Given the description of an element on the screen output the (x, y) to click on. 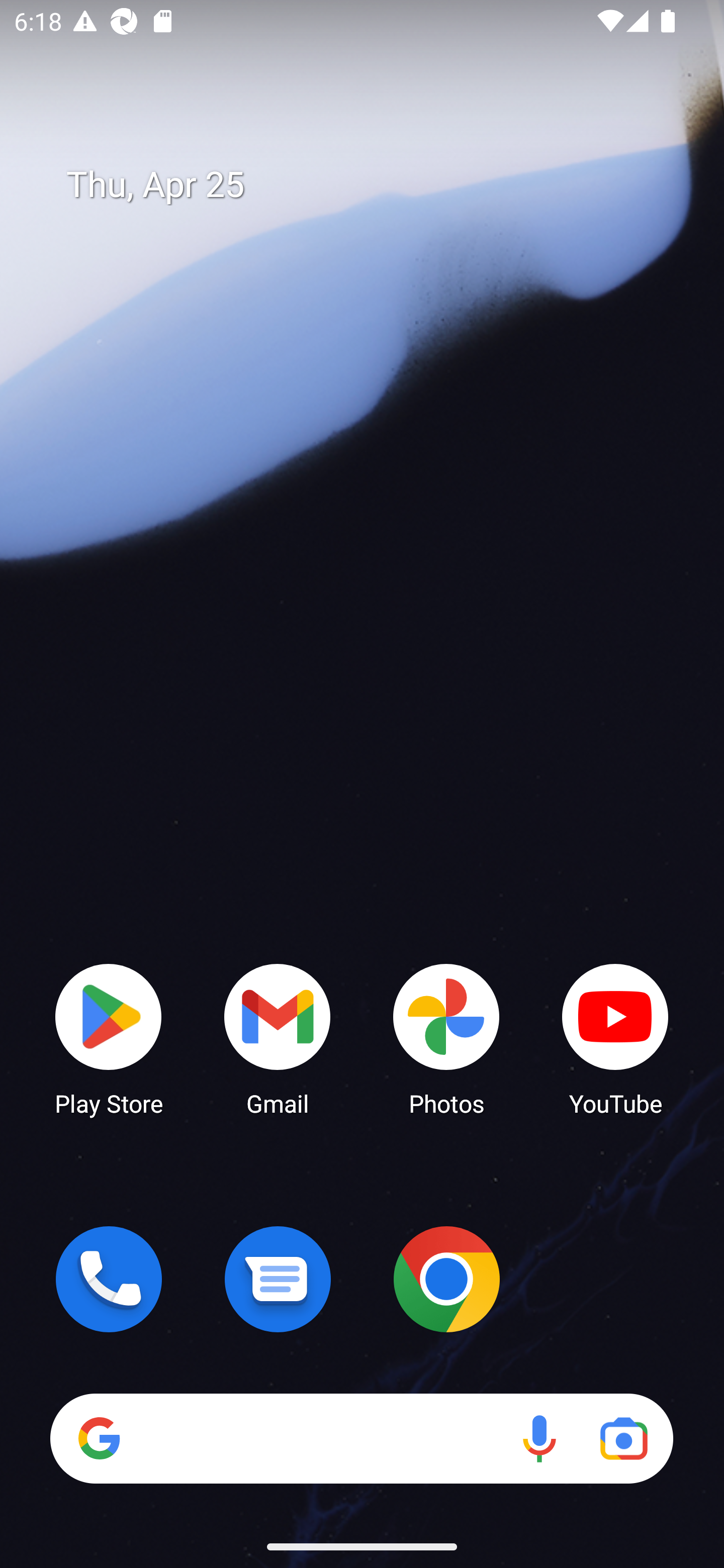
Thu, Apr 25 (375, 184)
Play Store (108, 1038)
Gmail (277, 1038)
Photos (445, 1038)
YouTube (615, 1038)
Phone (108, 1279)
Messages (277, 1279)
Chrome (446, 1279)
Search Voice search Google Lens (361, 1438)
Voice search (539, 1438)
Google Lens (623, 1438)
